Given the description of an element on the screen output the (x, y) to click on. 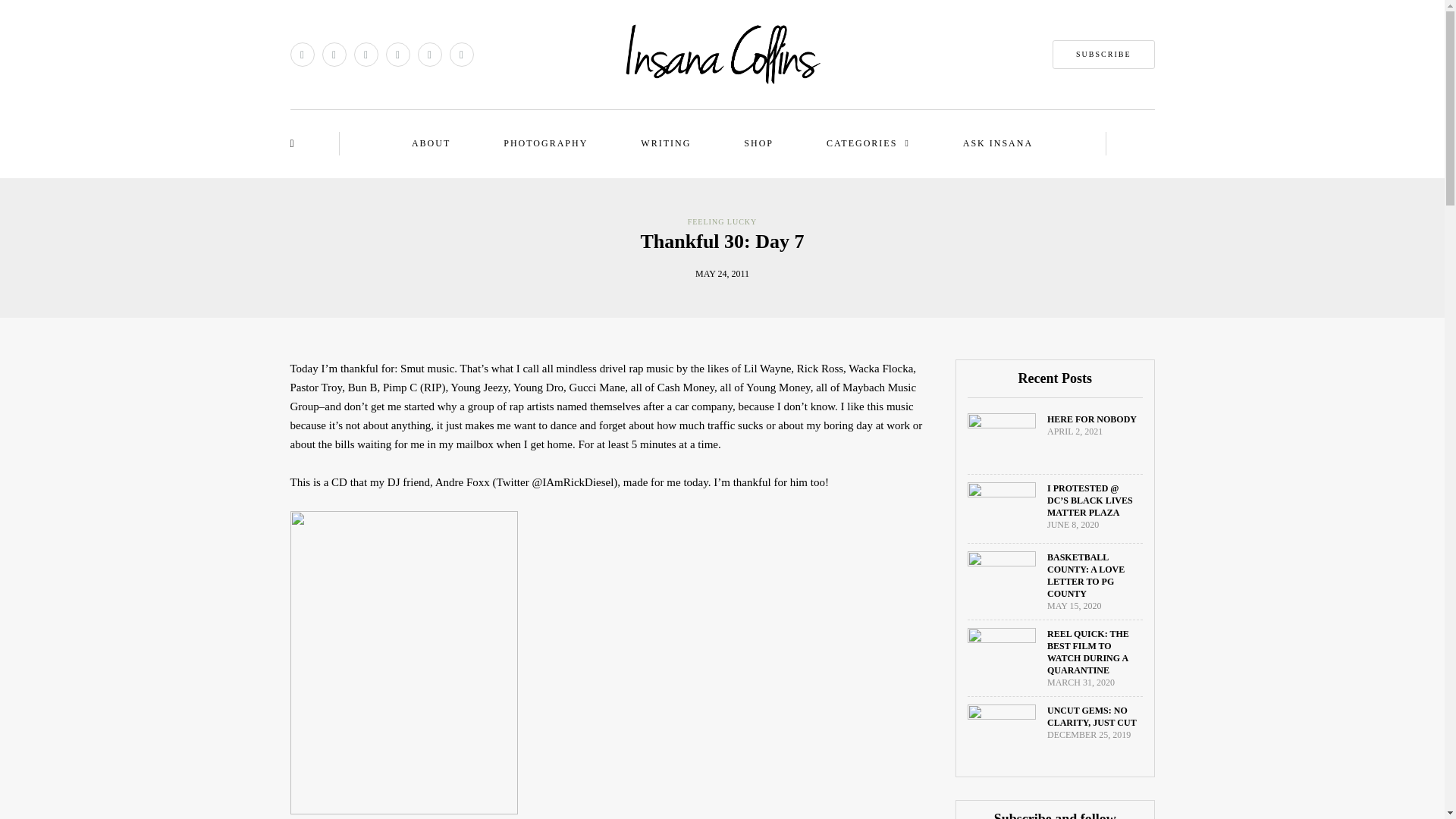
HERE FOR NOBODY (1091, 419)
PHOTOGRAPHY (545, 143)
SHOP (758, 143)
ABOUT (430, 143)
CATEGORIES (868, 143)
FEELING LUCKY (722, 221)
WRITING (665, 143)
ASK INSANA (997, 143)
SUBSCRIBE (1103, 54)
